Given the description of an element on the screen output the (x, y) to click on. 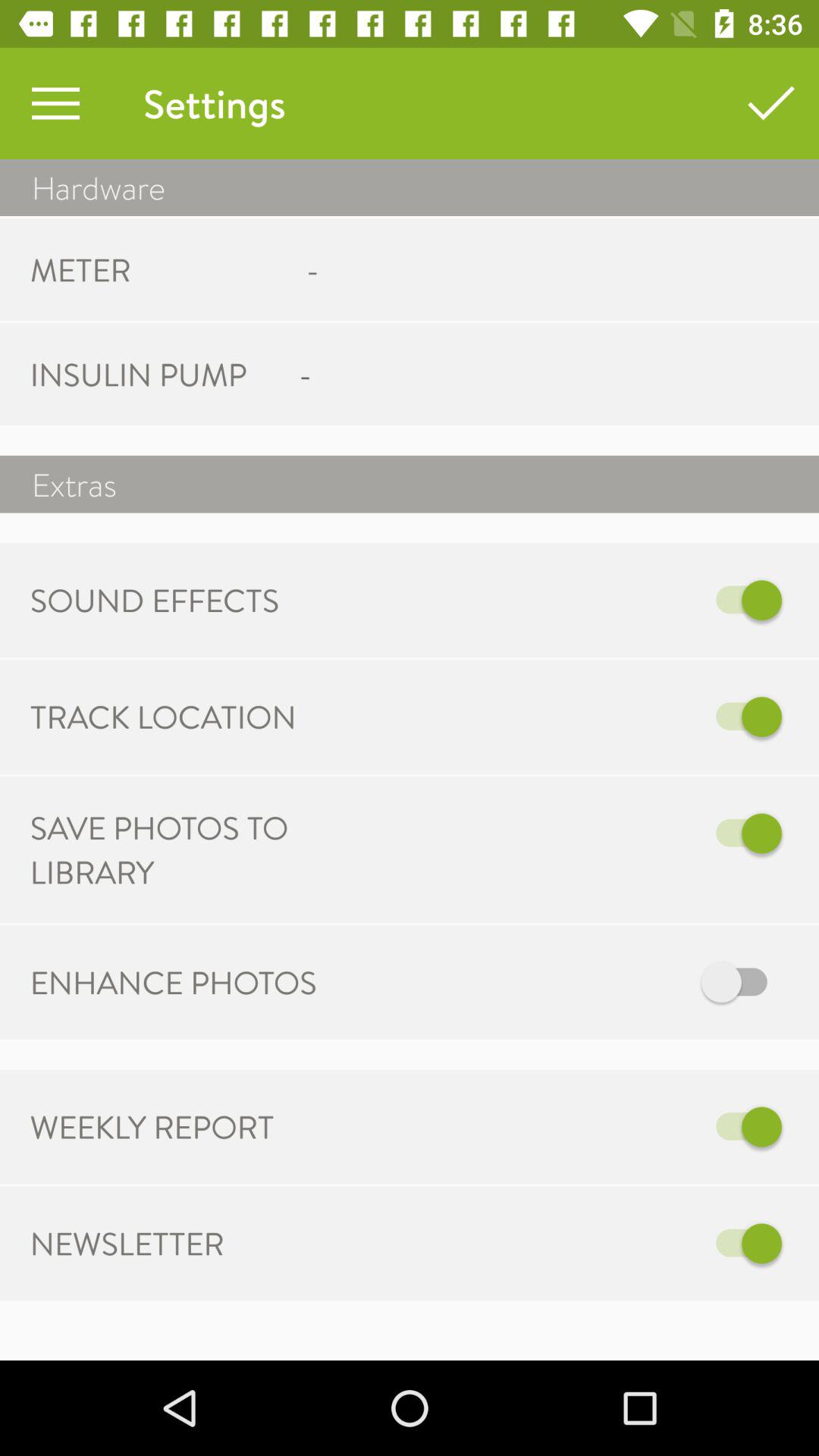
toggle enhance photos option (566, 982)
